Given the description of an element on the screen output the (x, y) to click on. 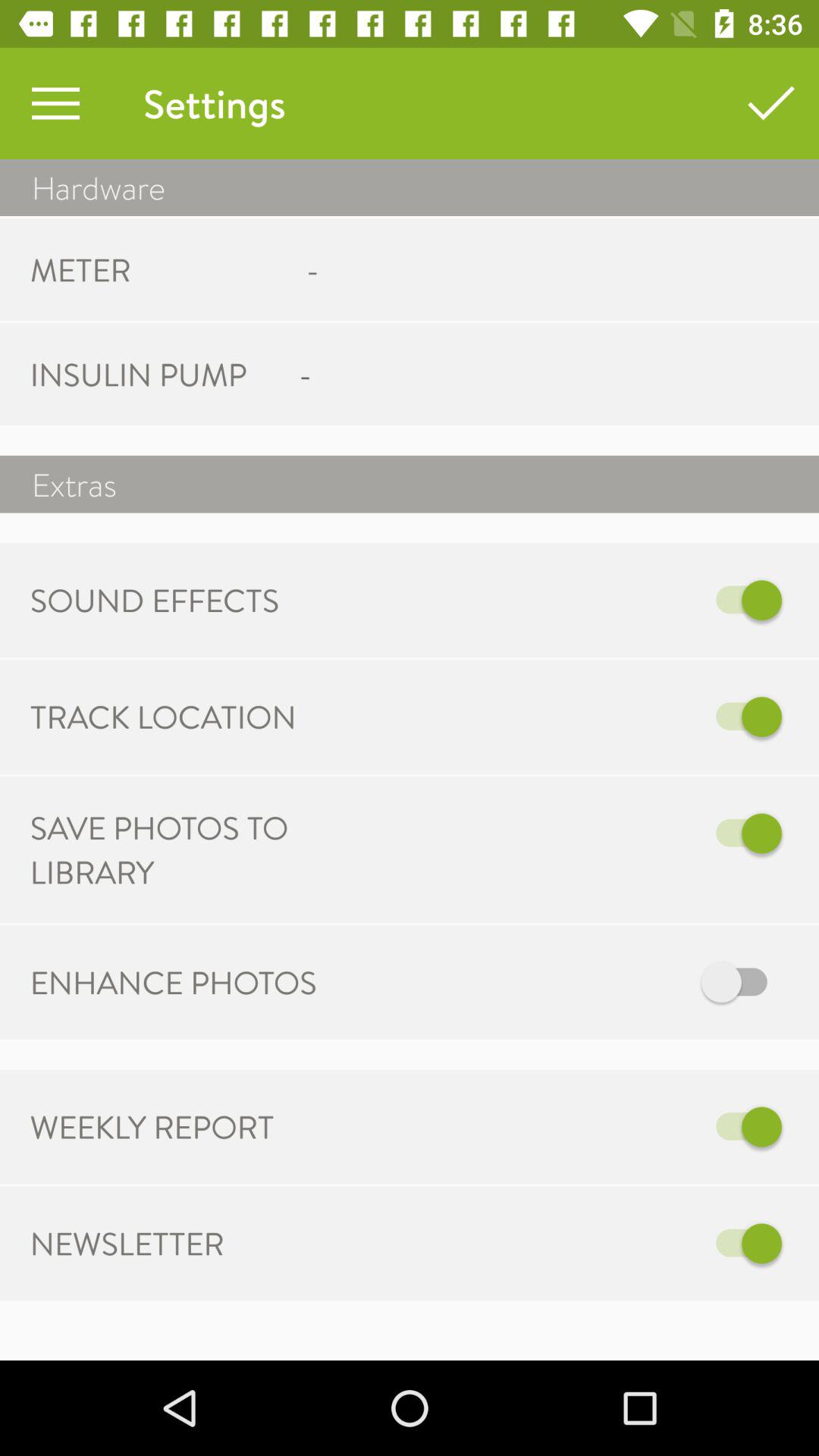
toggle enhance photos option (566, 982)
